Given the description of an element on the screen output the (x, y) to click on. 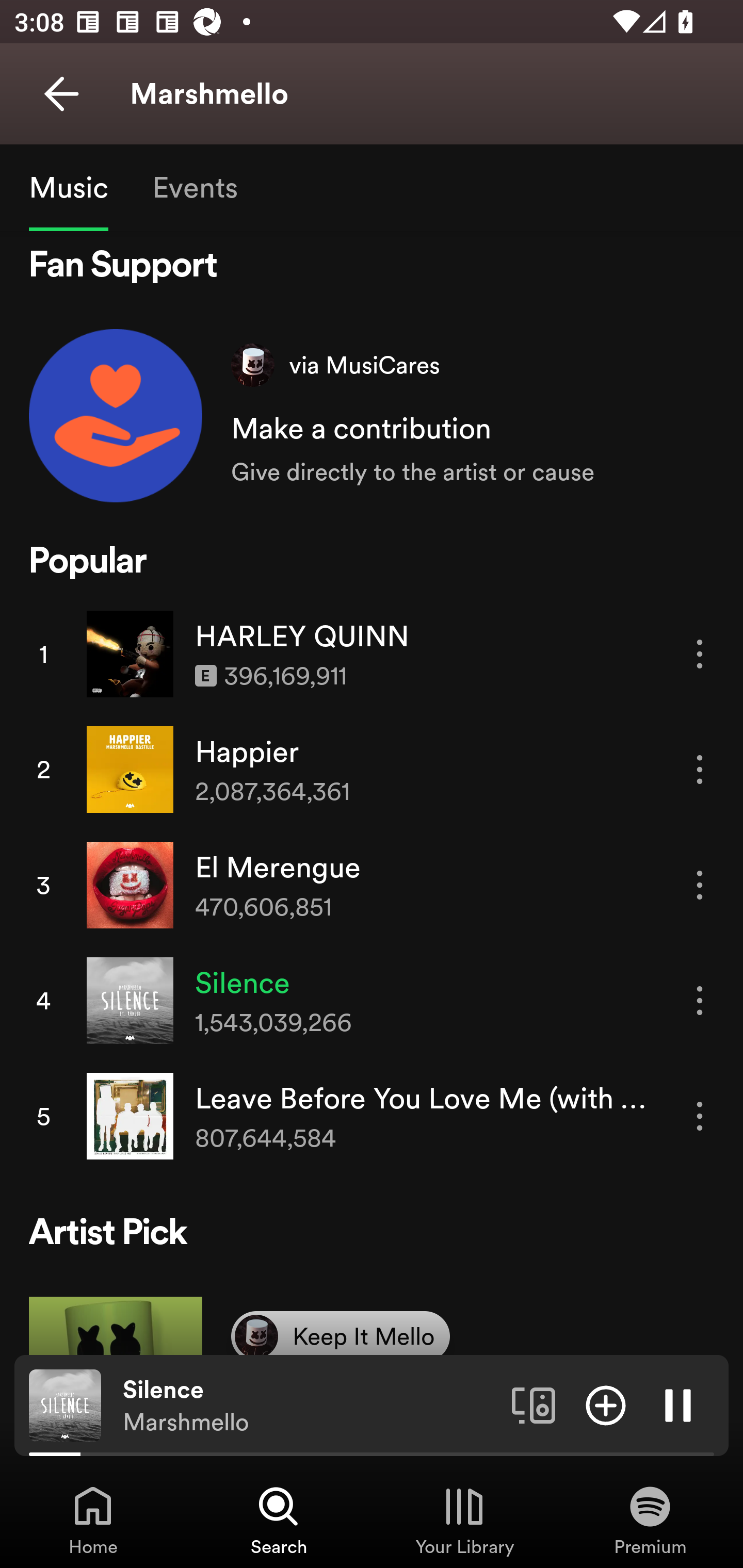
Back (60, 93)
Events (194, 187)
More options for song HARLEY QUINN (699, 653)
More options for song Happier (699, 768)
More options for song El Merengue (699, 885)
More options for song Silence (699, 1001)
Silence Marshmello (309, 1405)
The cover art of the currently playing track (64, 1404)
Connect to a device. Opens the devices menu (533, 1404)
Add item (605, 1404)
Pause (677, 1404)
Home, Tab 1 of 4 Home Home (92, 1519)
Search, Tab 2 of 4 Search Search (278, 1519)
Your Library, Tab 3 of 4 Your Library Your Library (464, 1519)
Premium, Tab 4 of 4 Premium Premium (650, 1519)
